Given the description of an element on the screen output the (x, y) to click on. 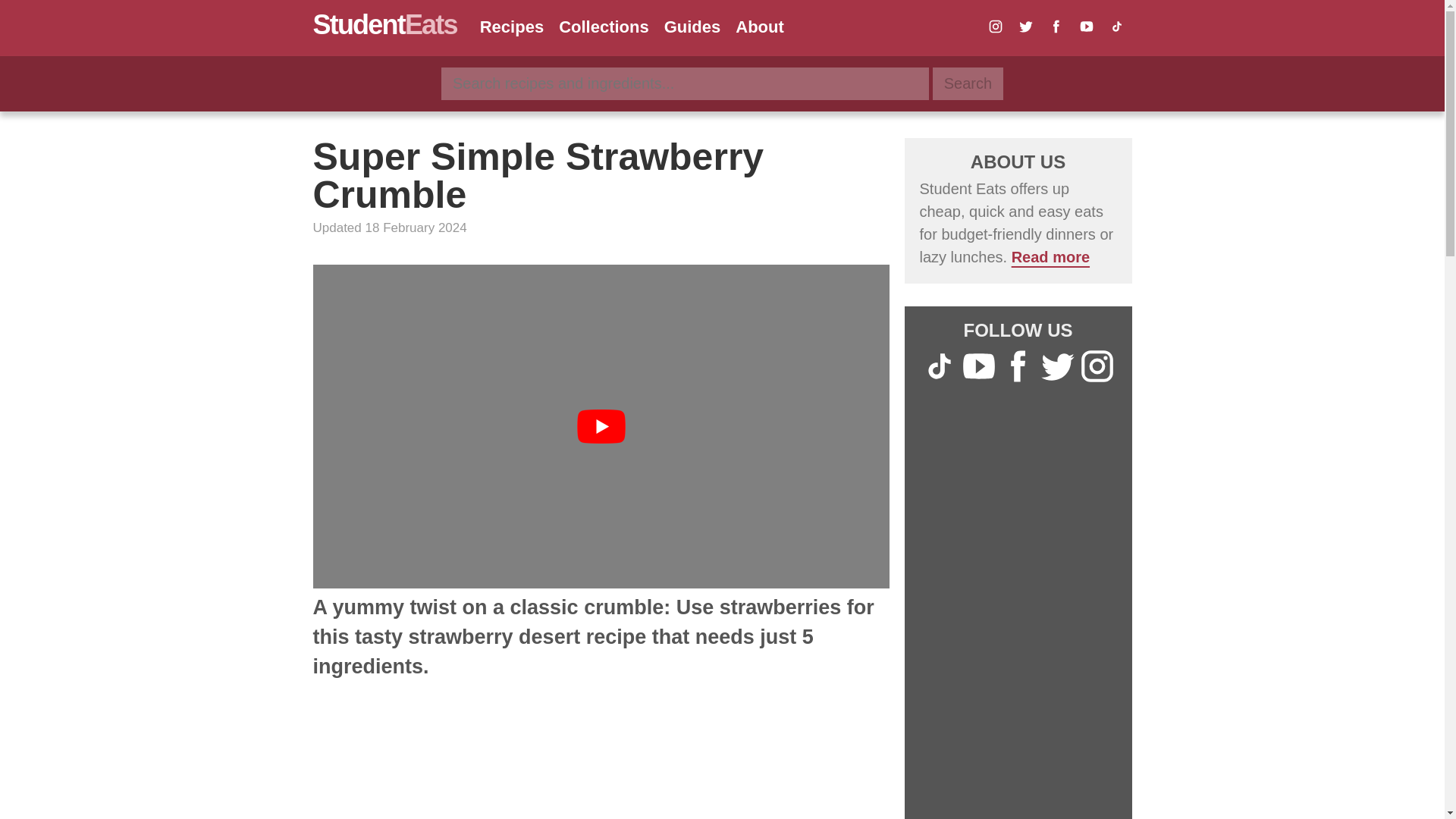
Collections (604, 26)
Search (968, 83)
Advertisement (600, 761)
About (759, 26)
Read more (1050, 256)
Guides (691, 26)
Search (968, 83)
StudentEats (385, 24)
Recipes (511, 26)
